Given the description of an element on the screen output the (x, y) to click on. 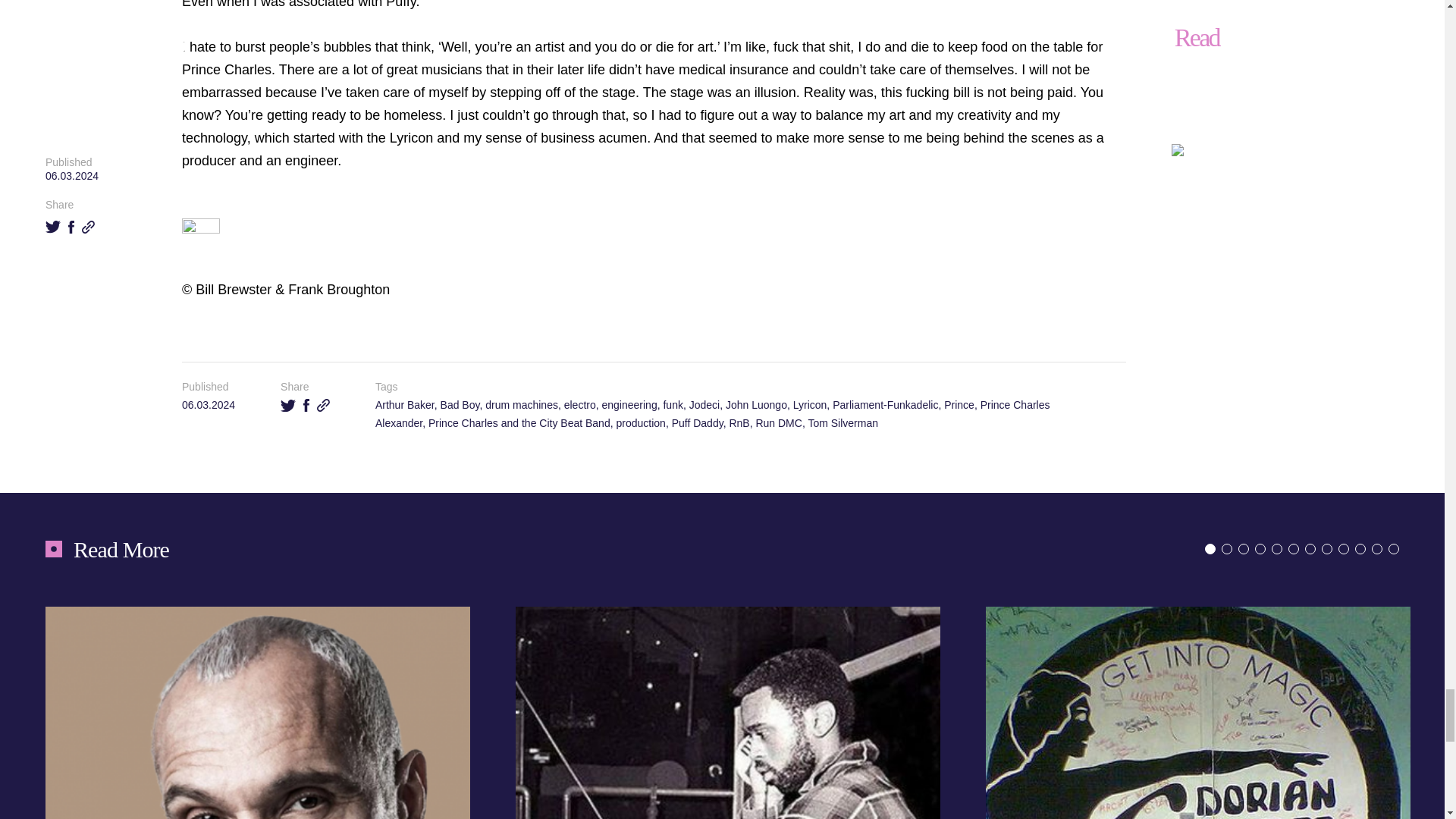
Prince Charles and the City Beat Band (519, 422)
production (640, 422)
Parliament-Funkadelic (884, 404)
RnB (739, 422)
Puff Daddy (697, 422)
Lyricon (810, 404)
Arthur Baker (404, 404)
Prince Charles Alexander (712, 413)
Jodeci (703, 404)
Prince (958, 404)
